Given the description of an element on the screen output the (x, y) to click on. 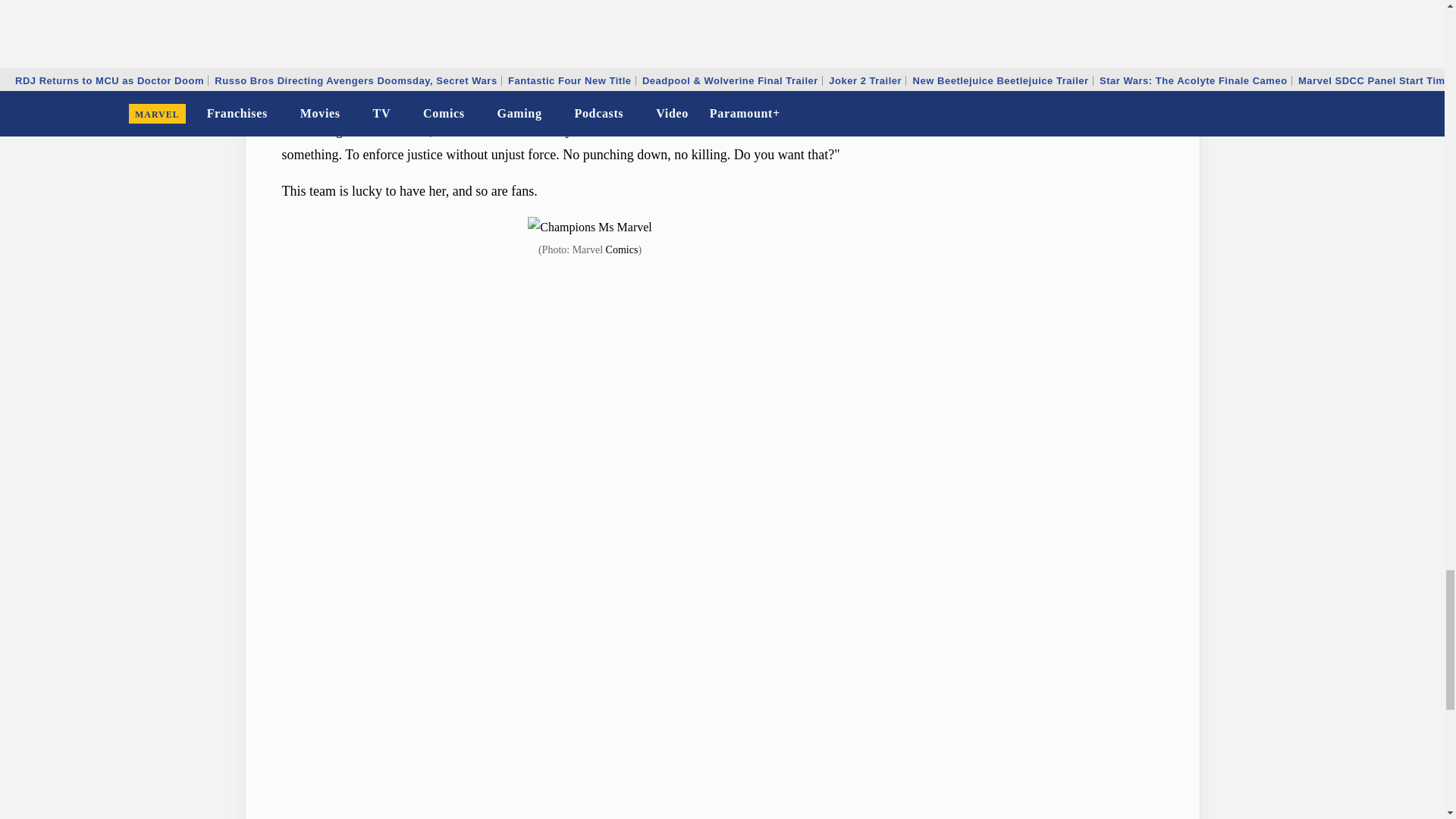
Champions Ms Marvel (589, 227)
